Given the description of an element on the screen output the (x, y) to click on. 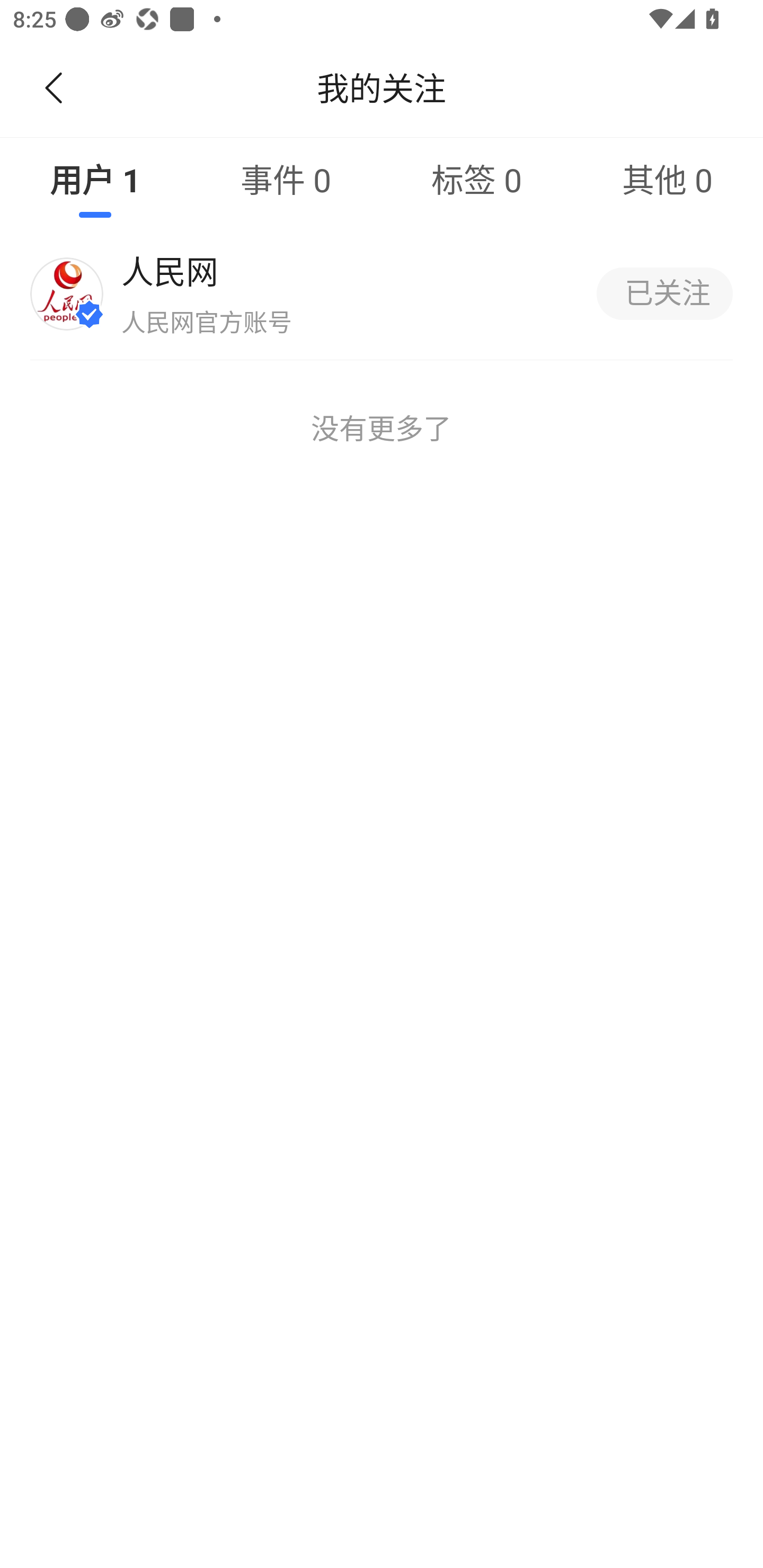
返回，可点击 (49, 87)
已选中用户&nbsp;1 (95, 179)
事件&nbsp;0，可选中 (285, 179)
标签&nbsp;0，可选中 (476, 179)
其他&nbsp;0，可选中 (667, 179)
头像，可点击 用户：人民网 人民网官方账号 已关注 (381, 293)
已关注 (664, 293)
